Given the description of an element on the screen output the (x, y) to click on. 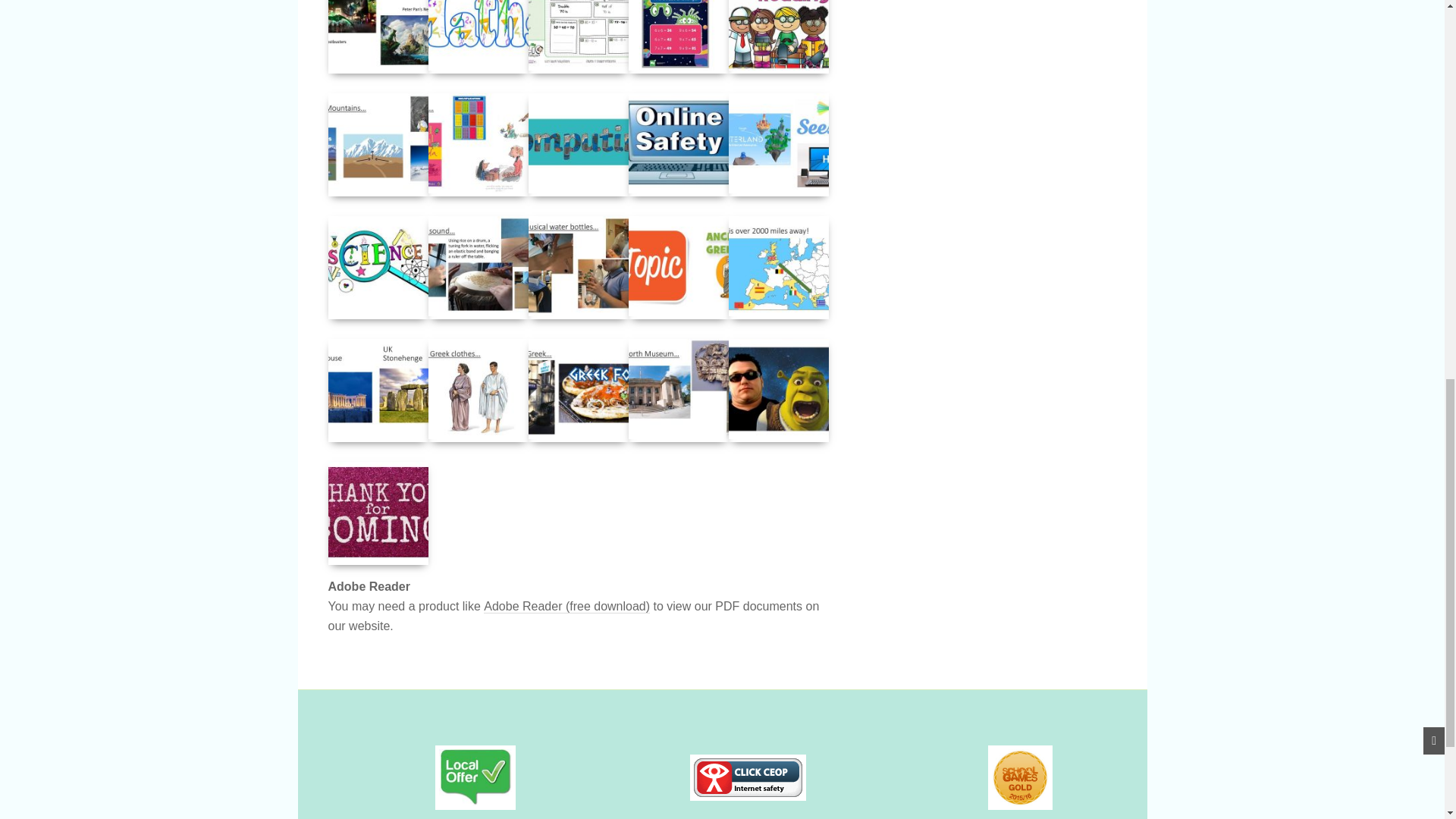
School Games (1019, 777)
Click CEOP (748, 777)
